Given the description of an element on the screen output the (x, y) to click on. 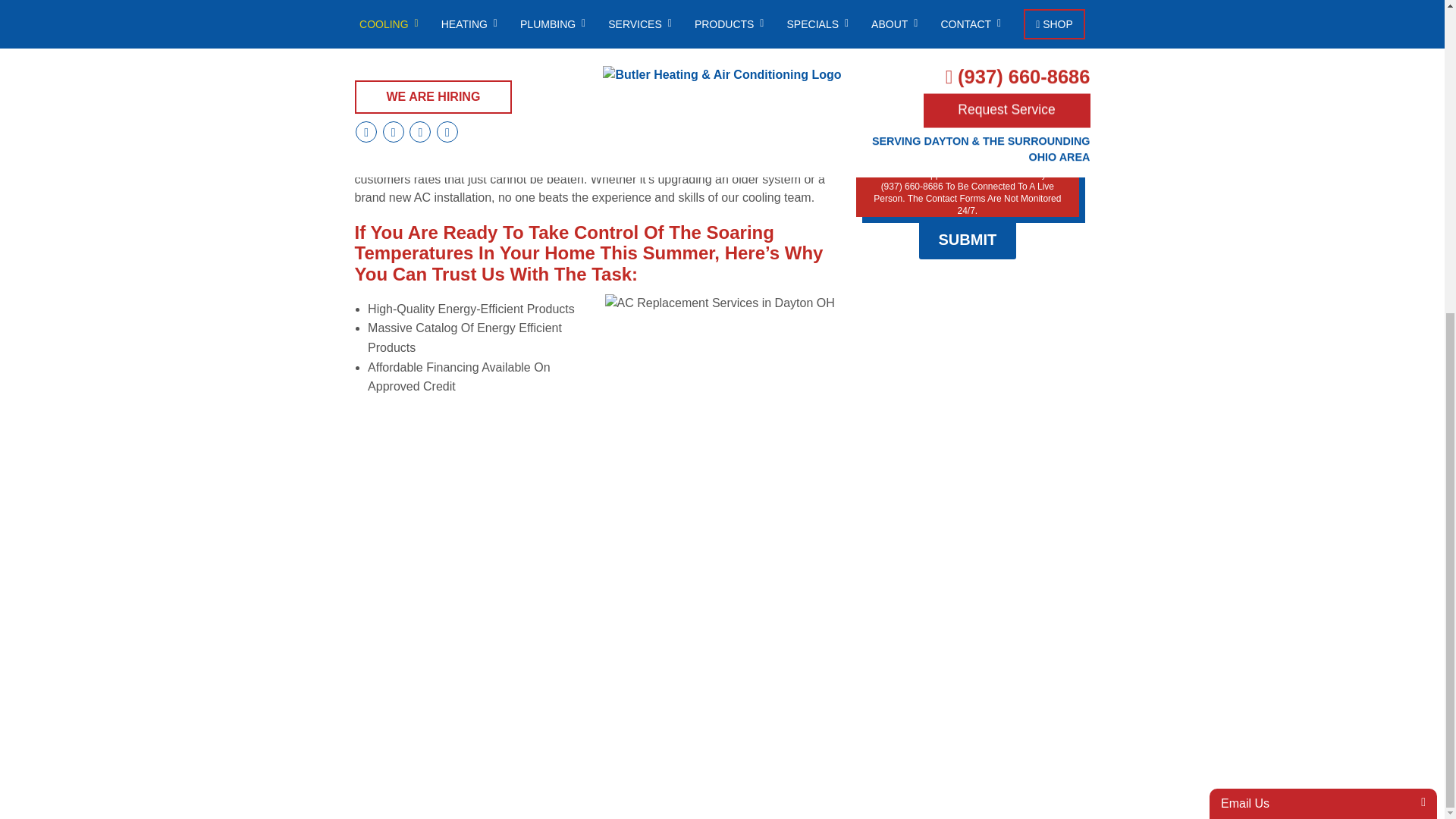
Submit (967, 239)
